Given the description of an element on the screen output the (x, y) to click on. 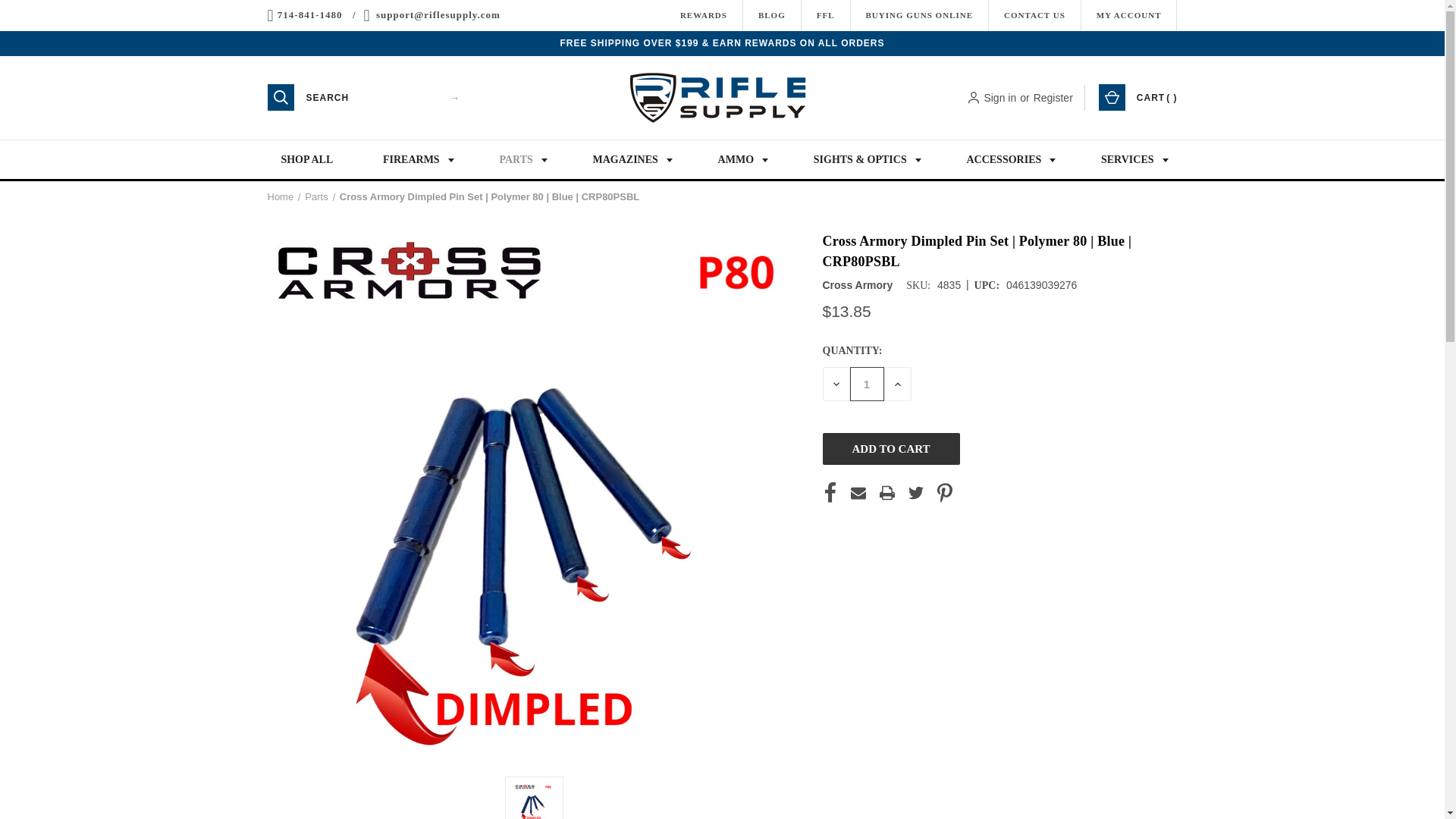
REWARDS (702, 14)
Register (1053, 97)
MY ACCOUNT (1128, 14)
714-841-1480 (310, 15)
BUYING GUNS ONLINE (919, 14)
Add to Cart (890, 449)
FFL (825, 14)
CONTACT US (1034, 14)
1 (865, 383)
Sign in (1000, 97)
